Given the description of an element on the screen output the (x, y) to click on. 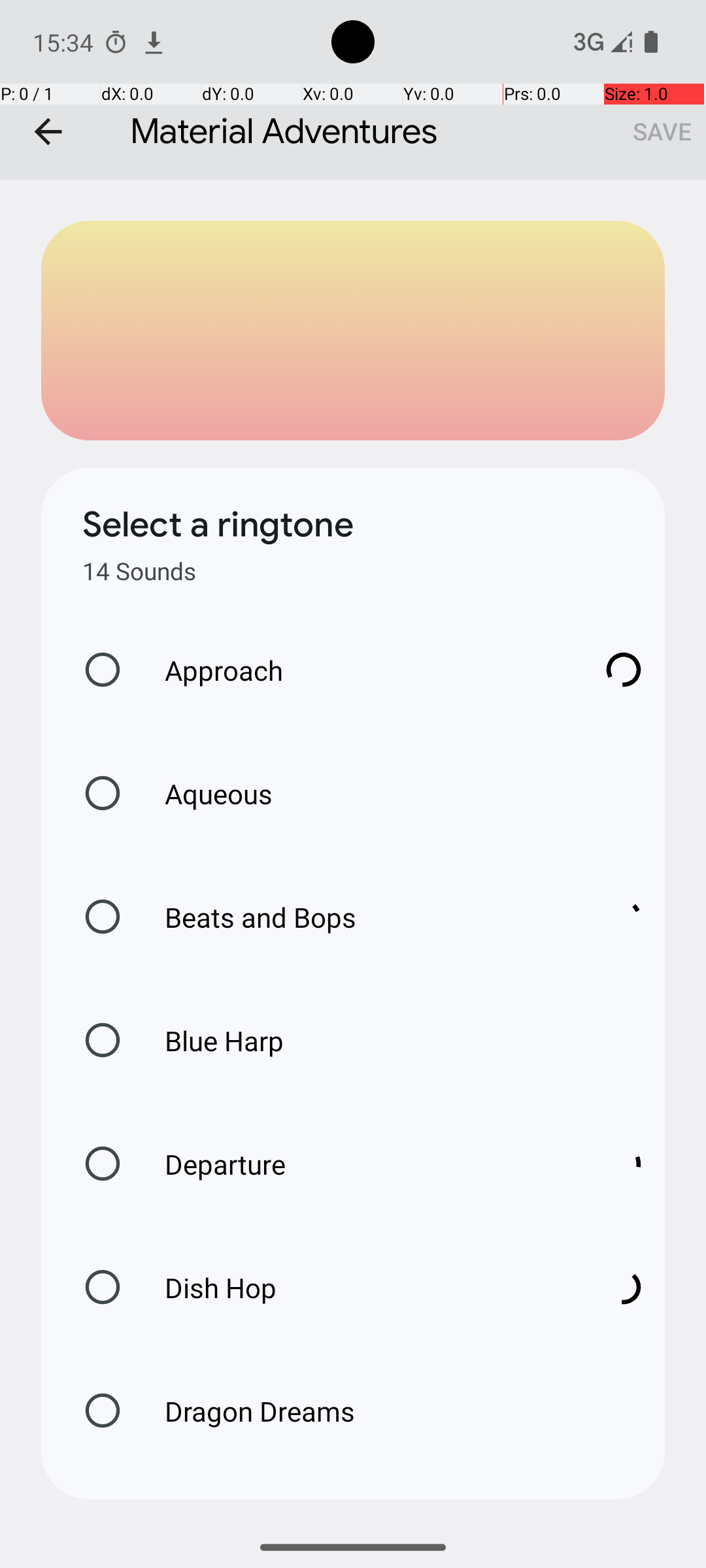
Approach Element type: android.widget.TextView (359, 669)
Aqueous Element type: android.widget.TextView (204, 793)
Beats and Bops Element type: android.widget.TextView (359, 916)
Blue Harp Element type: android.widget.TextView (210, 1040)
Departure Element type: android.widget.TextView (359, 1163)
Dish Hop Element type: android.widget.TextView (359, 1287)
Dragon Dreams Element type: android.widget.TextView (245, 1410)
